Given the description of an element on the screen output the (x, y) to click on. 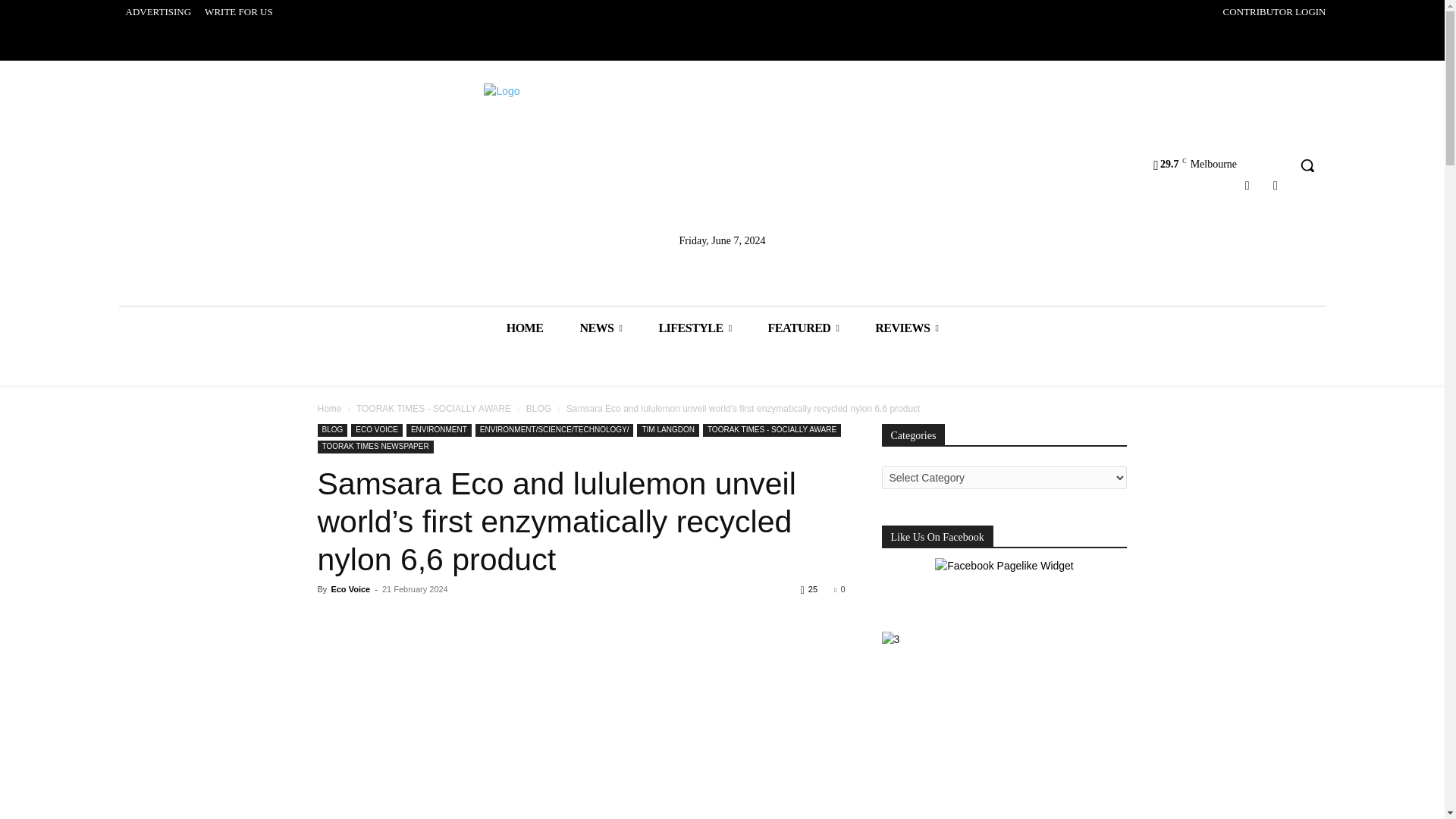
View all posts in TOORAK TIMES - SOCIALLY AWARE (433, 408)
topFacebookLike (430, 616)
CONTRIBUTOR LOGIN (1274, 12)
View all posts in BLOG (538, 408)
Facebook (1246, 185)
Youtube (1275, 185)
ADVERTISING (157, 12)
WRITE FOR US (238, 12)
